Given the description of an element on the screen output the (x, y) to click on. 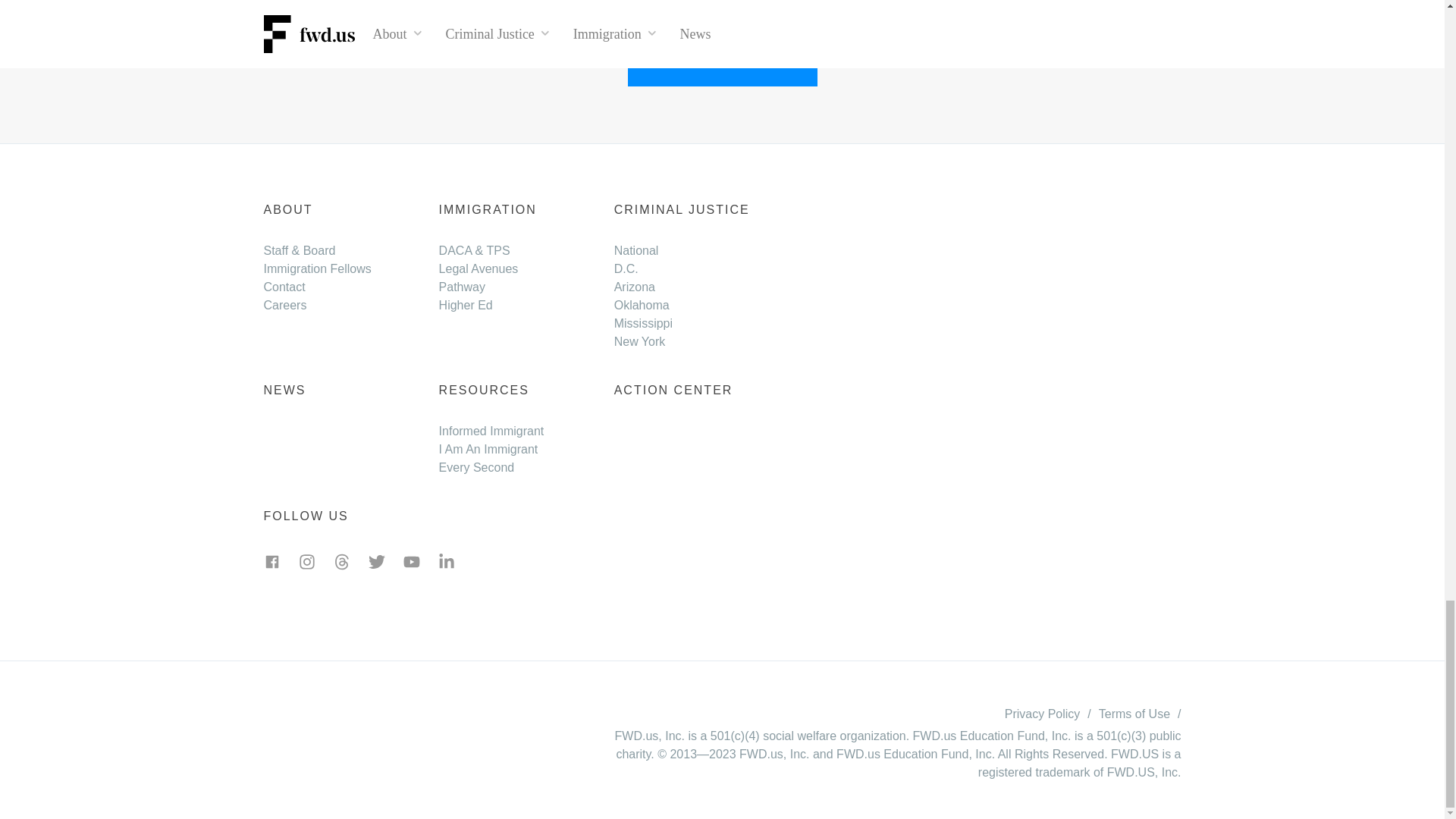
SEE ALL THE NEWS (721, 64)
Immigration Fellows (317, 268)
ABOUT (288, 209)
